Given the description of an element on the screen output the (x, y) to click on. 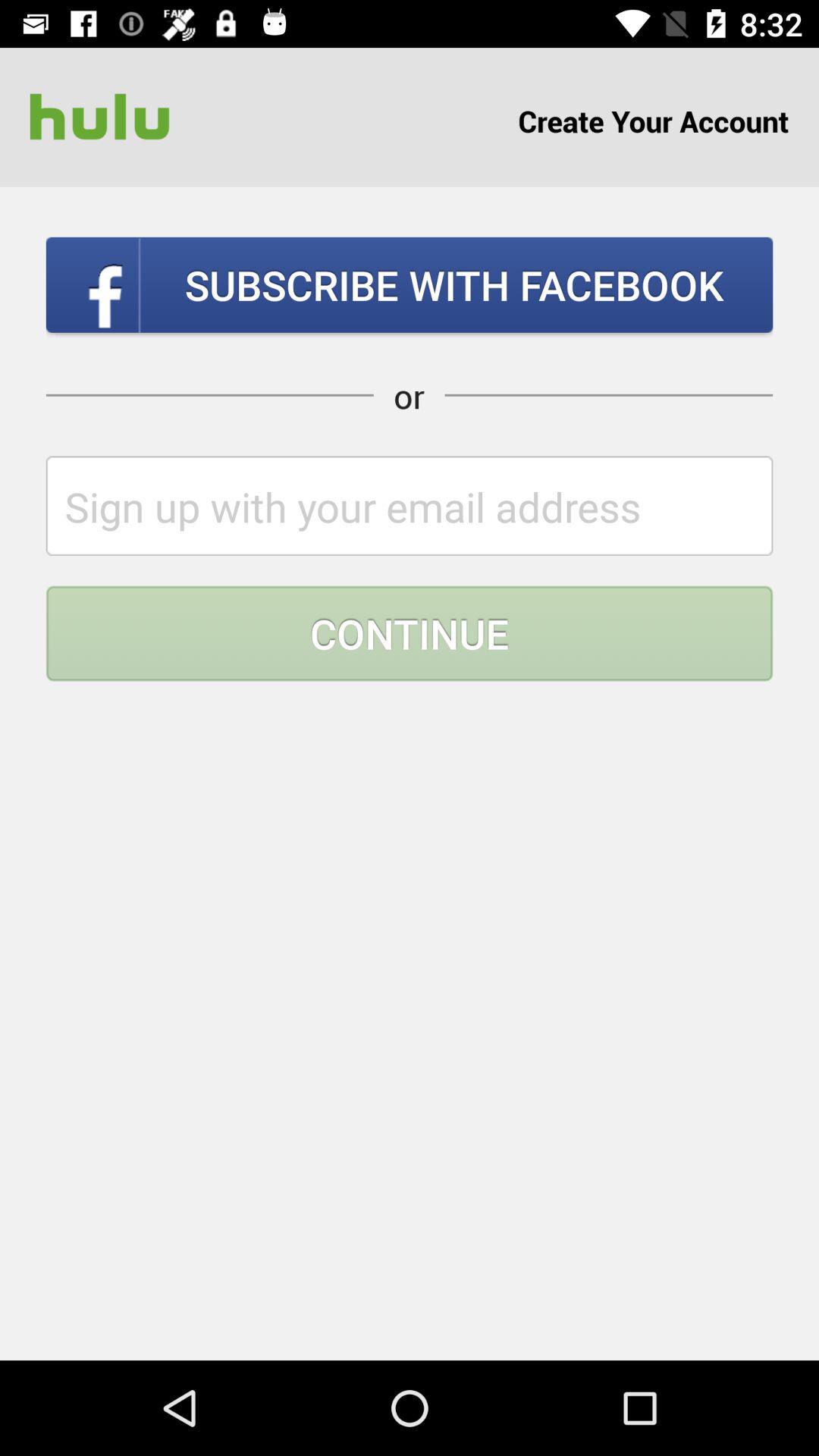
turn off the continue (409, 633)
